Given the description of an element on the screen output the (x, y) to click on. 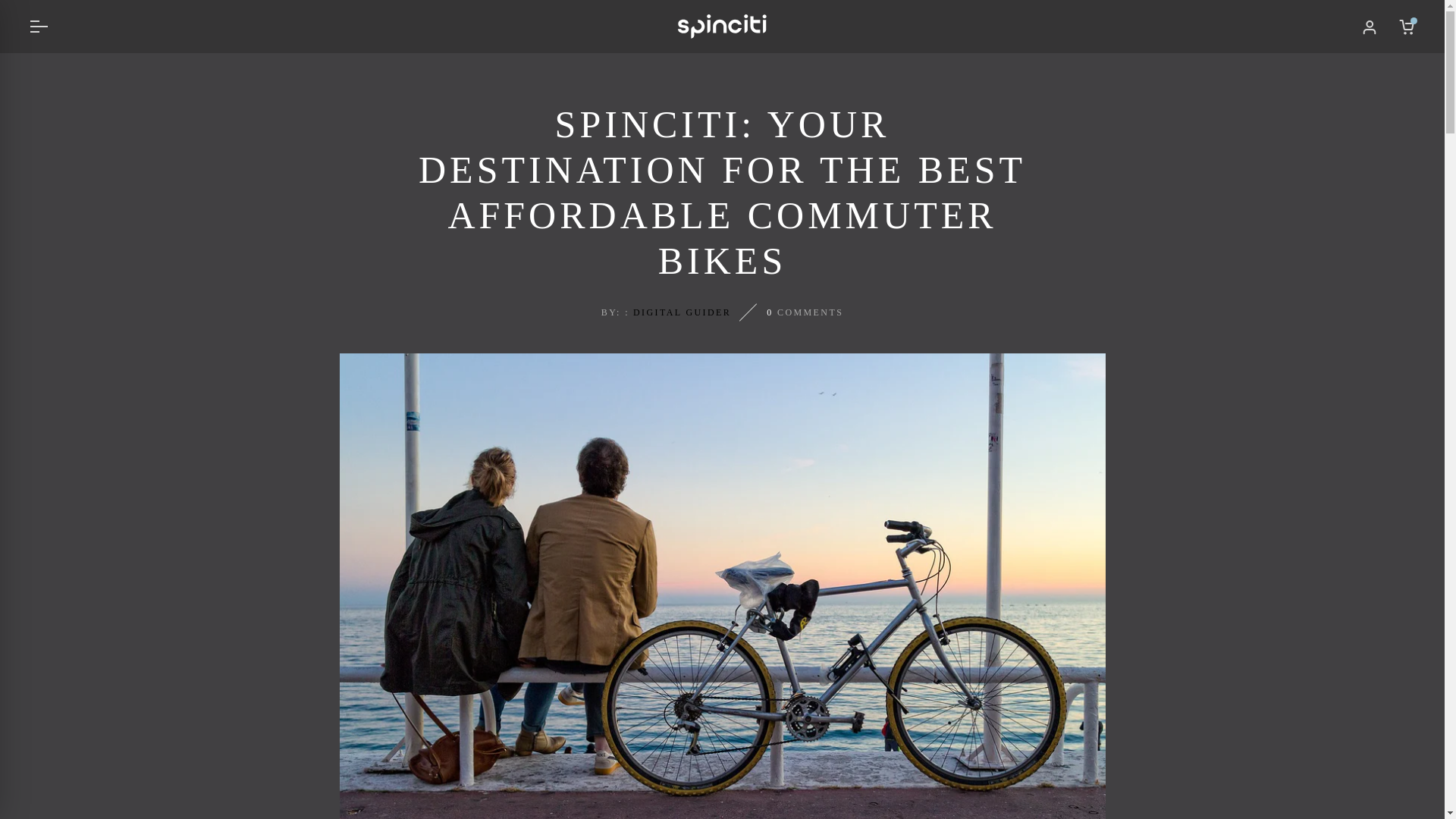
0 (1406, 26)
Log In (722, 452)
register (722, 745)
